Given the description of an element on the screen output the (x, y) to click on. 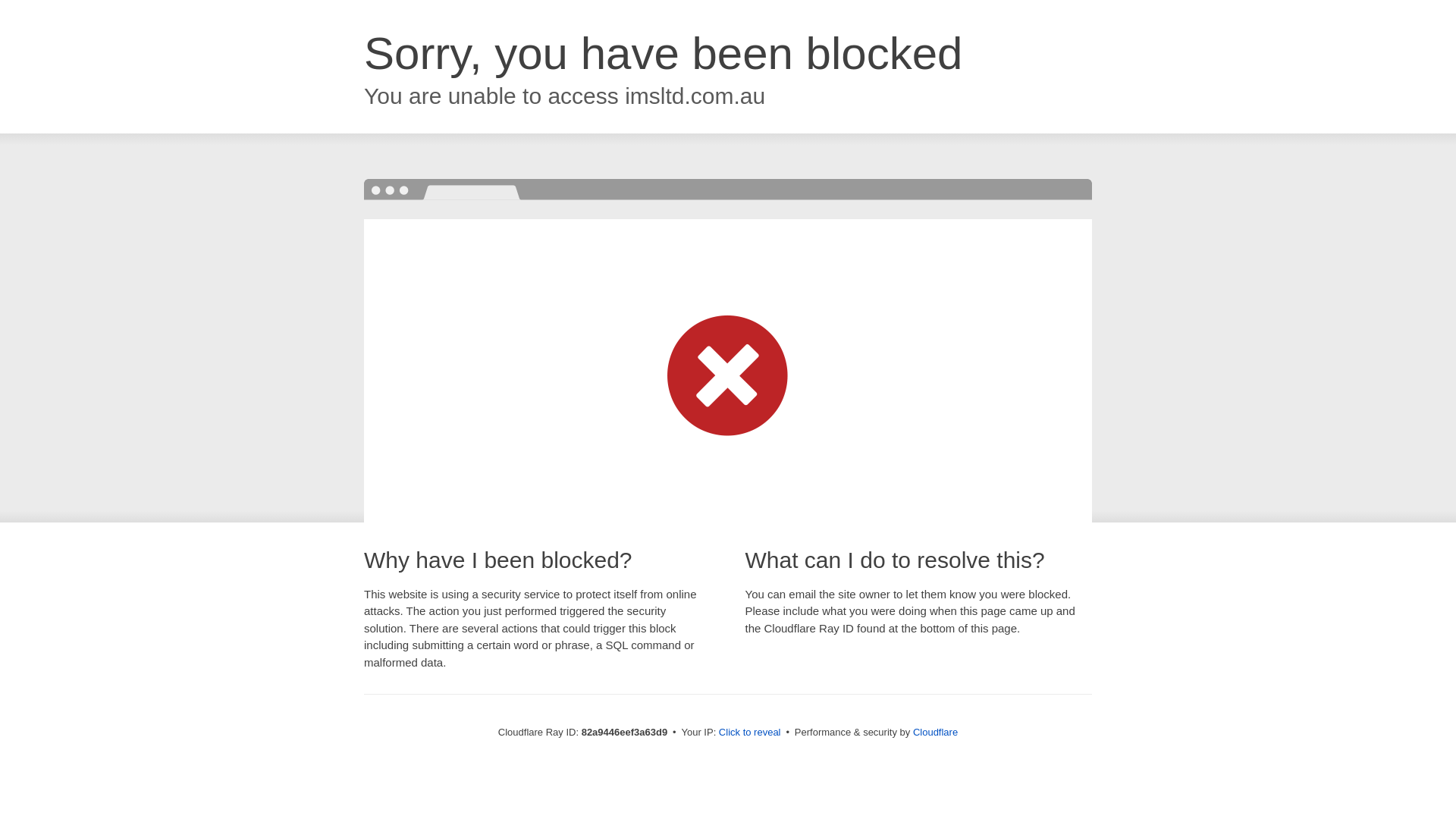
Click to reveal Element type: text (749, 732)
Cloudflare Element type: text (935, 731)
